Given the description of an element on the screen output the (x, y) to click on. 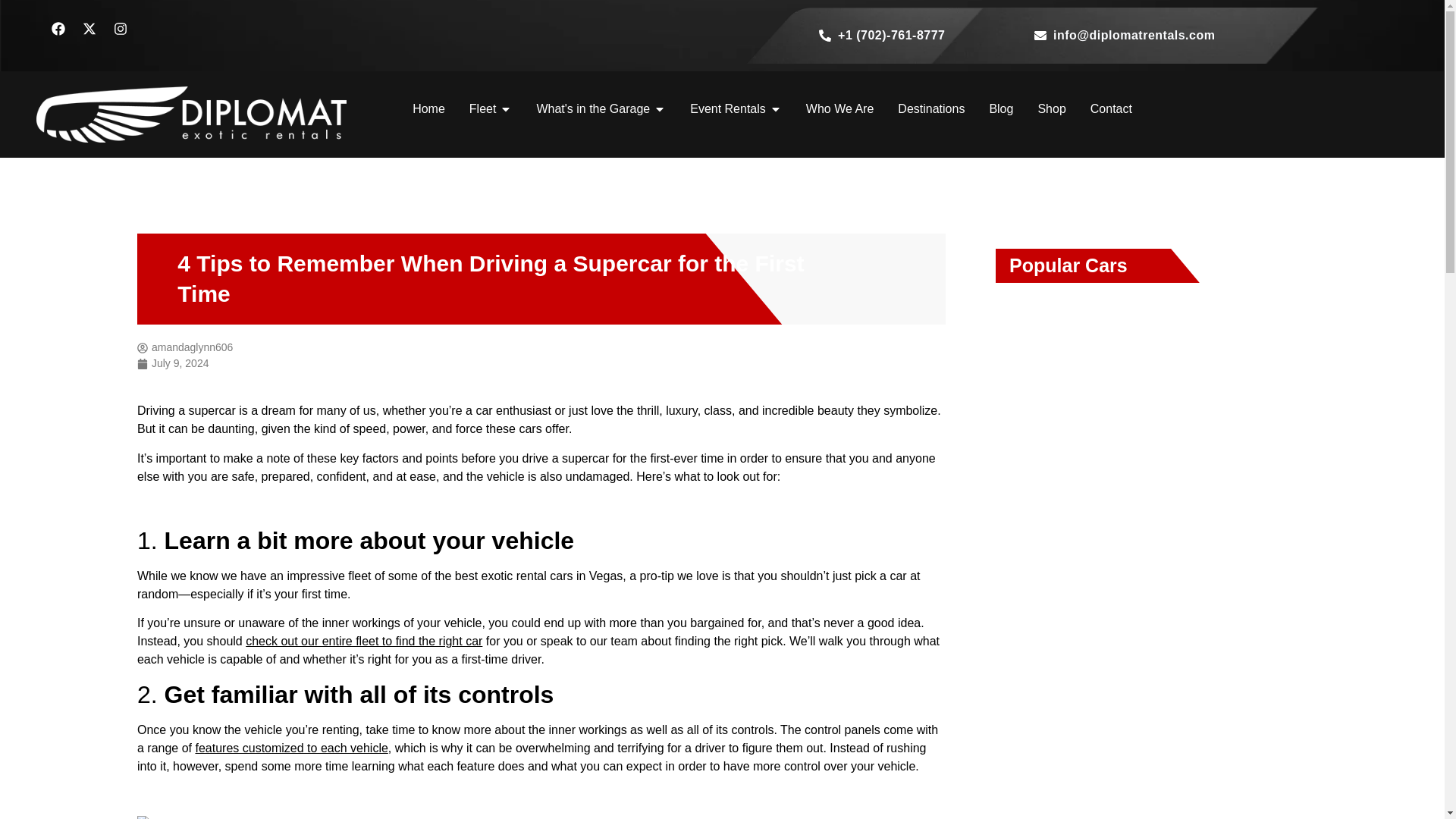
Fleet (482, 108)
Home (428, 108)
